Given the description of an element on the screen output the (x, y) to click on. 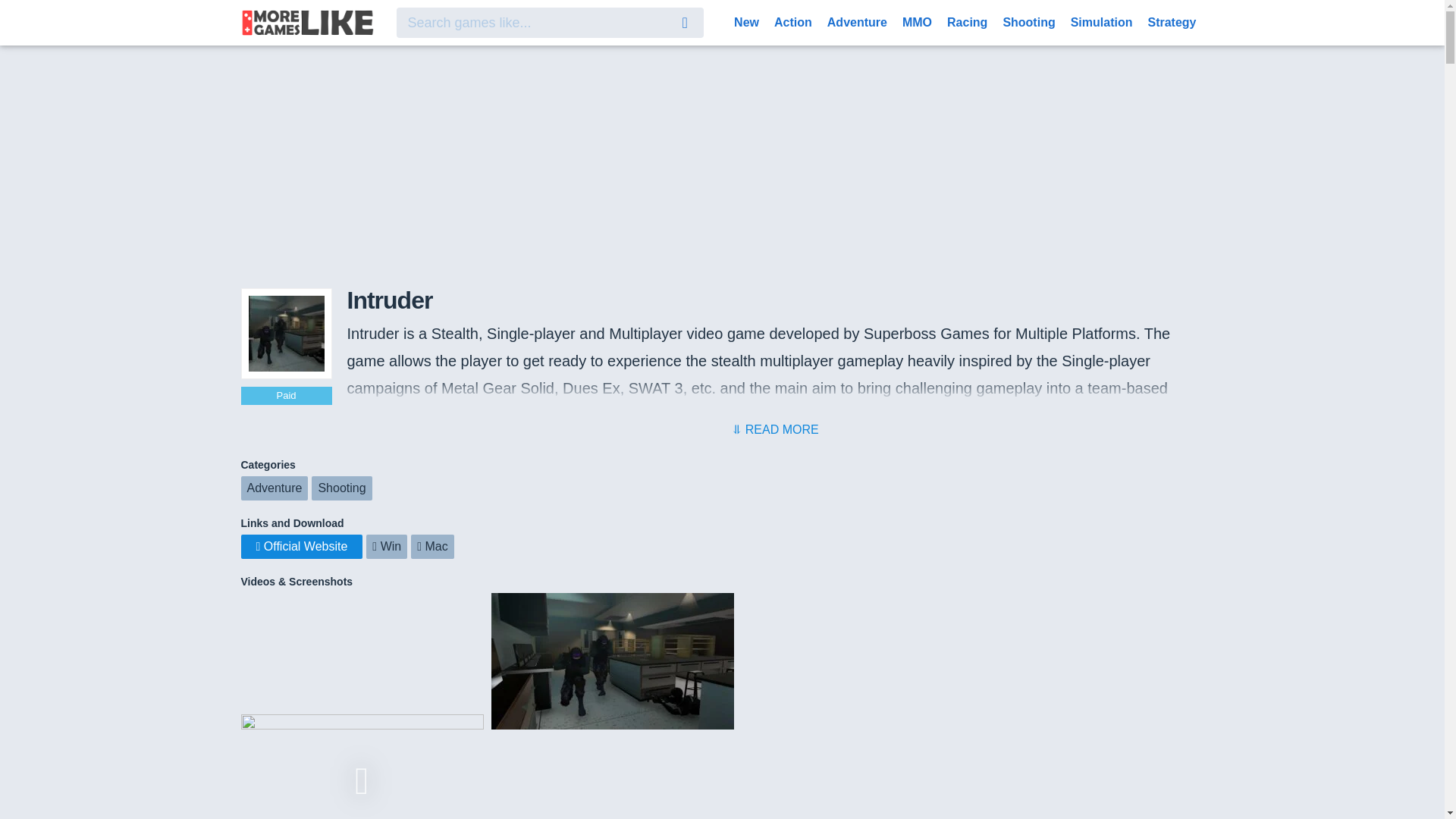
Adventure (857, 21)
Strategy (1172, 21)
Shooting (1028, 21)
Win (386, 546)
Racing (966, 21)
Official Website (301, 546)
Mac (432, 546)
Action (793, 21)
MMO (917, 21)
Shooting (341, 487)
Windows (386, 546)
Adventure (274, 487)
Simulation (1101, 21)
New (746, 21)
